Given the description of an element on the screen output the (x, y) to click on. 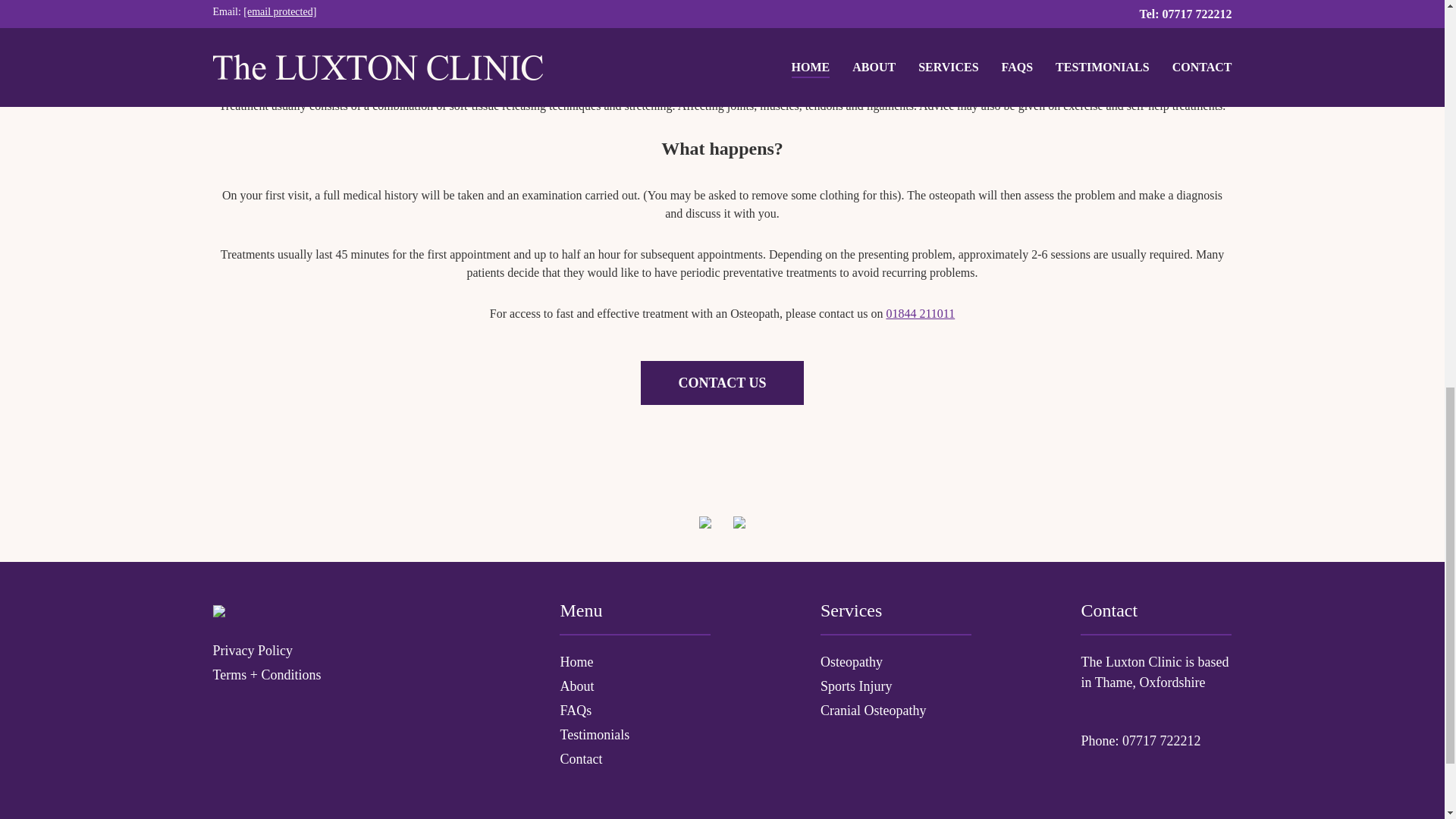
FAQs (634, 711)
CONTACT US (722, 382)
Contact (634, 759)
Cranial Osteopathy (896, 711)
Testimonials (634, 734)
Home (634, 661)
Privacy Policy (330, 650)
About (634, 686)
Sports Injury (896, 686)
Osteopathy (896, 661)
